Given the description of an element on the screen output the (x, y) to click on. 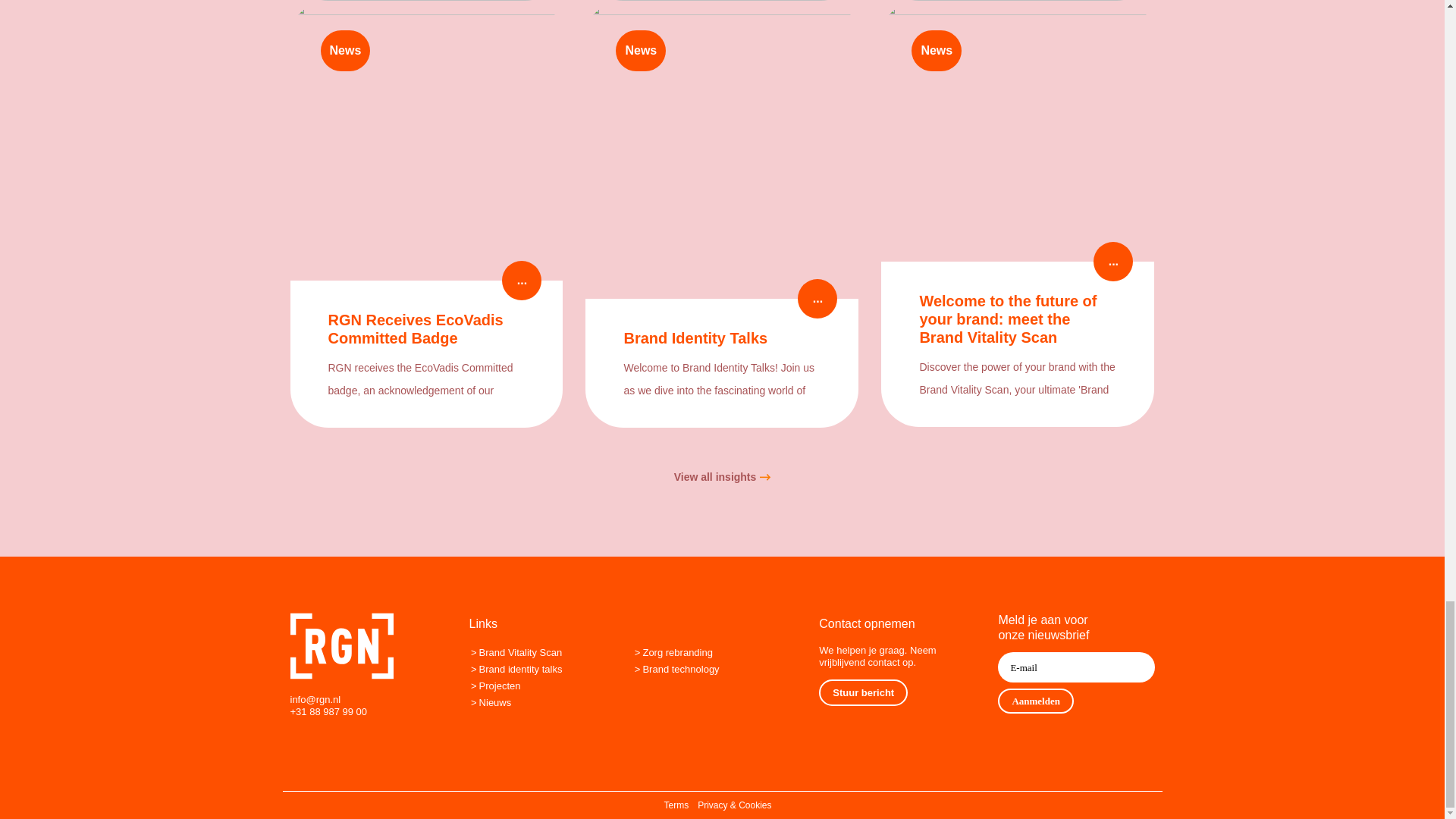
... (817, 298)
Aanmelden (1035, 700)
... (1112, 261)
View all insights (722, 477)
... (521, 280)
